Given the description of an element on the screen output the (x, y) to click on. 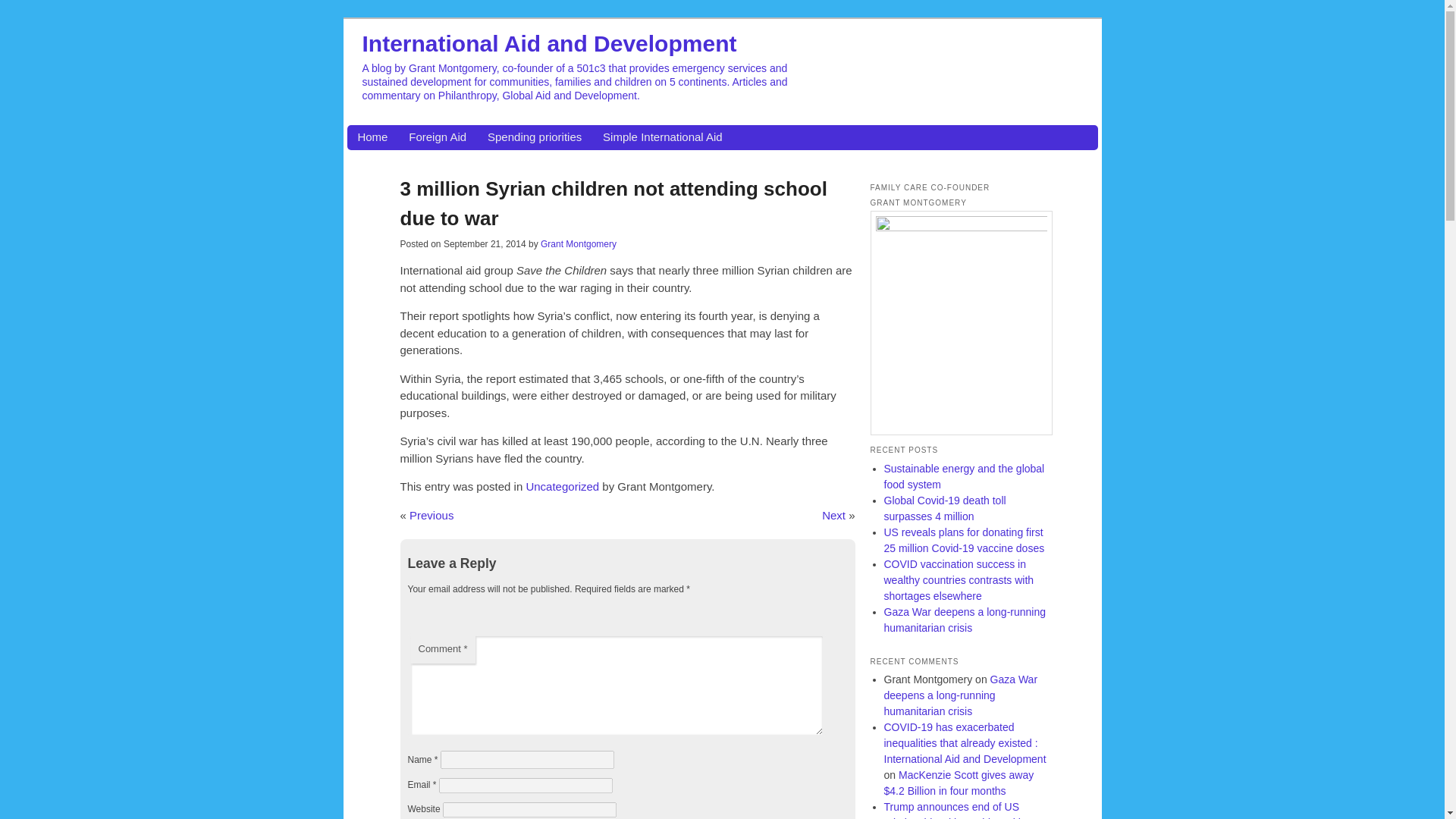
Posts by Grant Montgomery (577, 244)
Foreign Aid (437, 137)
International Aid and Development (549, 42)
Previous (430, 514)
Next (833, 514)
Gaza War deepens a long-running humanitarian crisis (960, 695)
Sustainable energy and the global food system  (964, 476)
3 million Syrian children not attending school due to war (613, 203)
Spending priorities (533, 137)
